Given the description of an element on the screen output the (x, y) to click on. 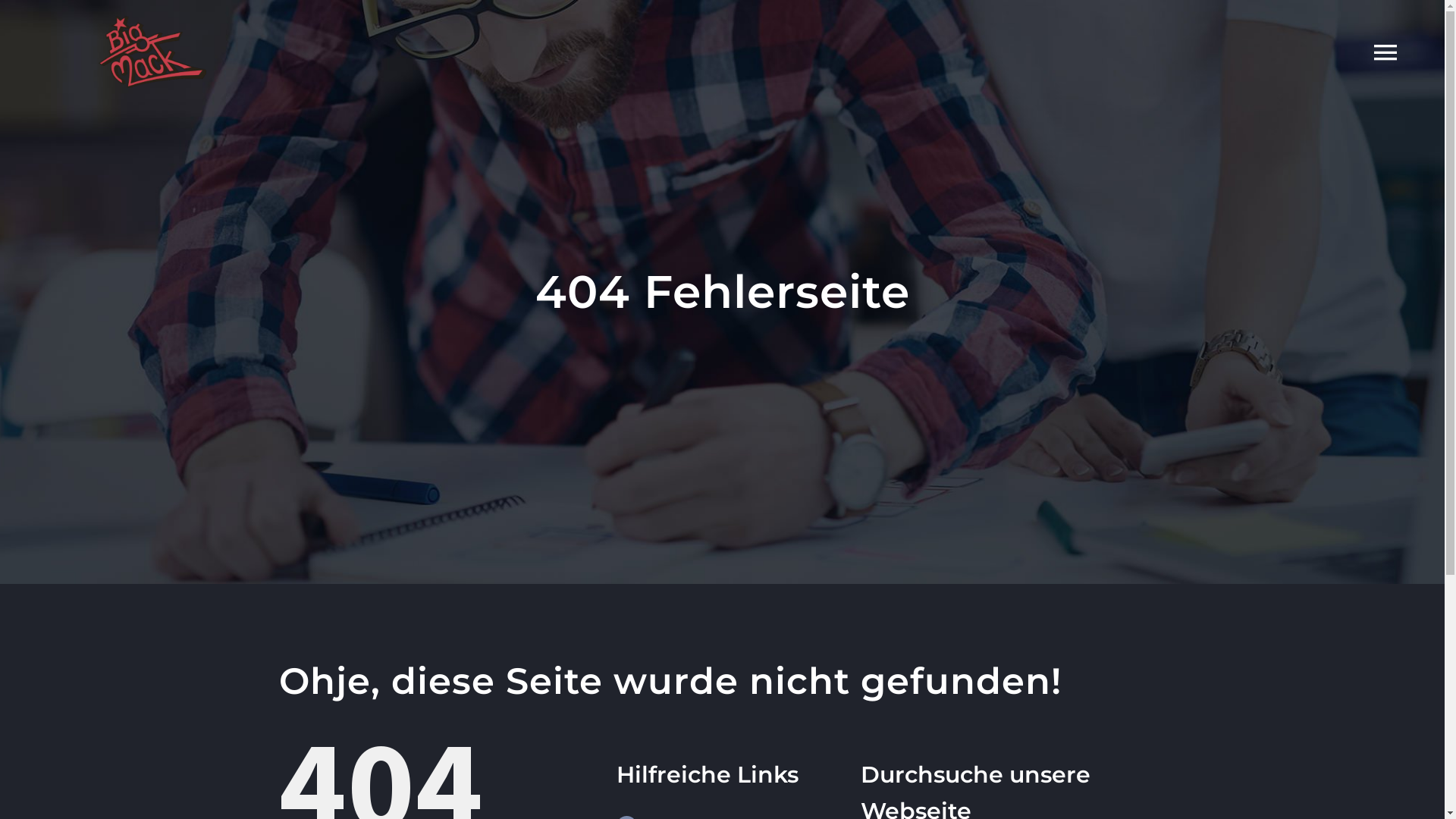
BigMack_Logo_ohneSchrift Element type: hover (153, 51)
